Given the description of an element on the screen output the (x, y) to click on. 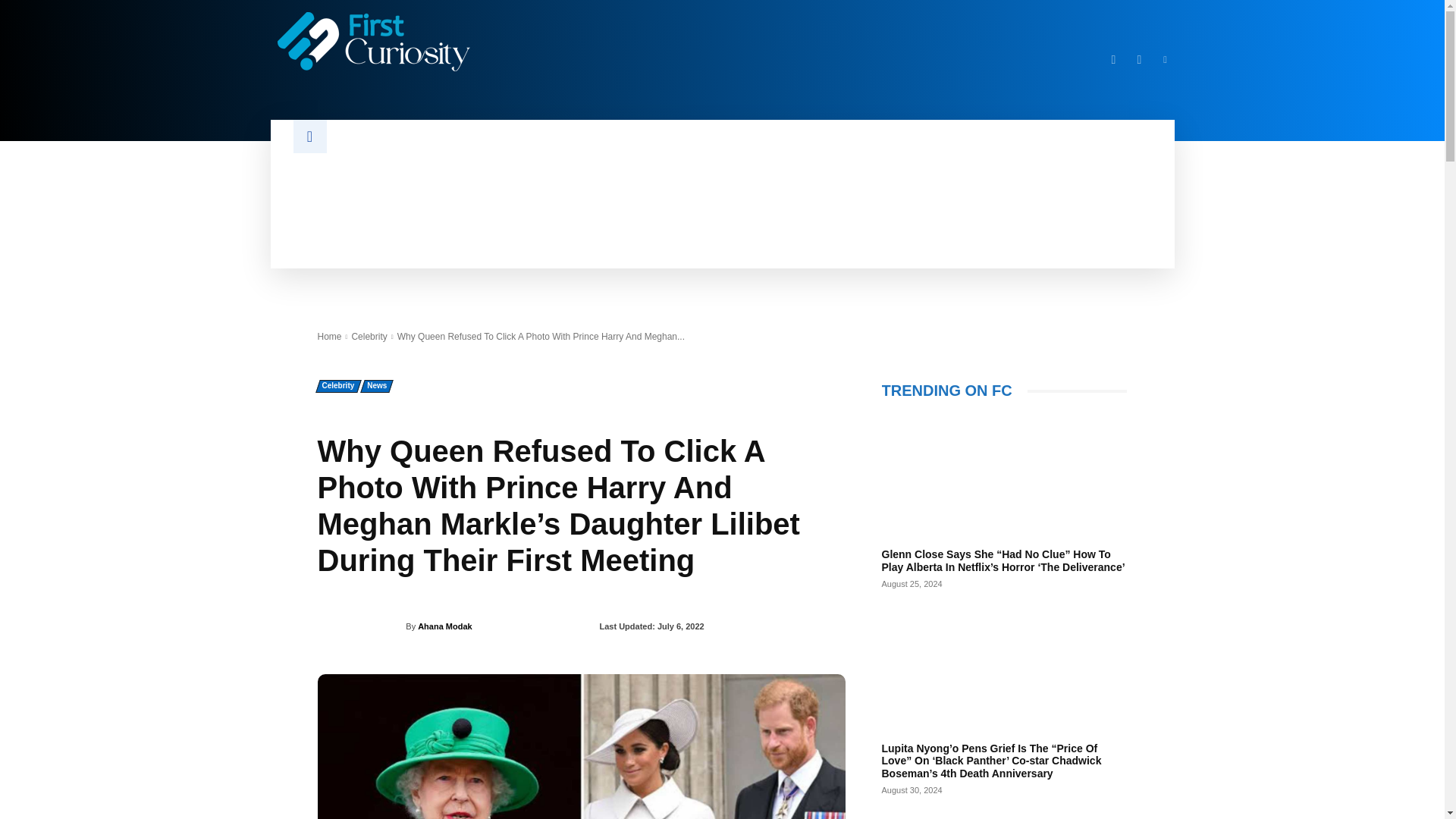
Twitter (1138, 59)
Celebrity (368, 336)
View all posts in Celebrity (368, 336)
Linkedin (1164, 59)
Facebook (1112, 59)
Home (328, 336)
